Given the description of an element on the screen output the (x, y) to click on. 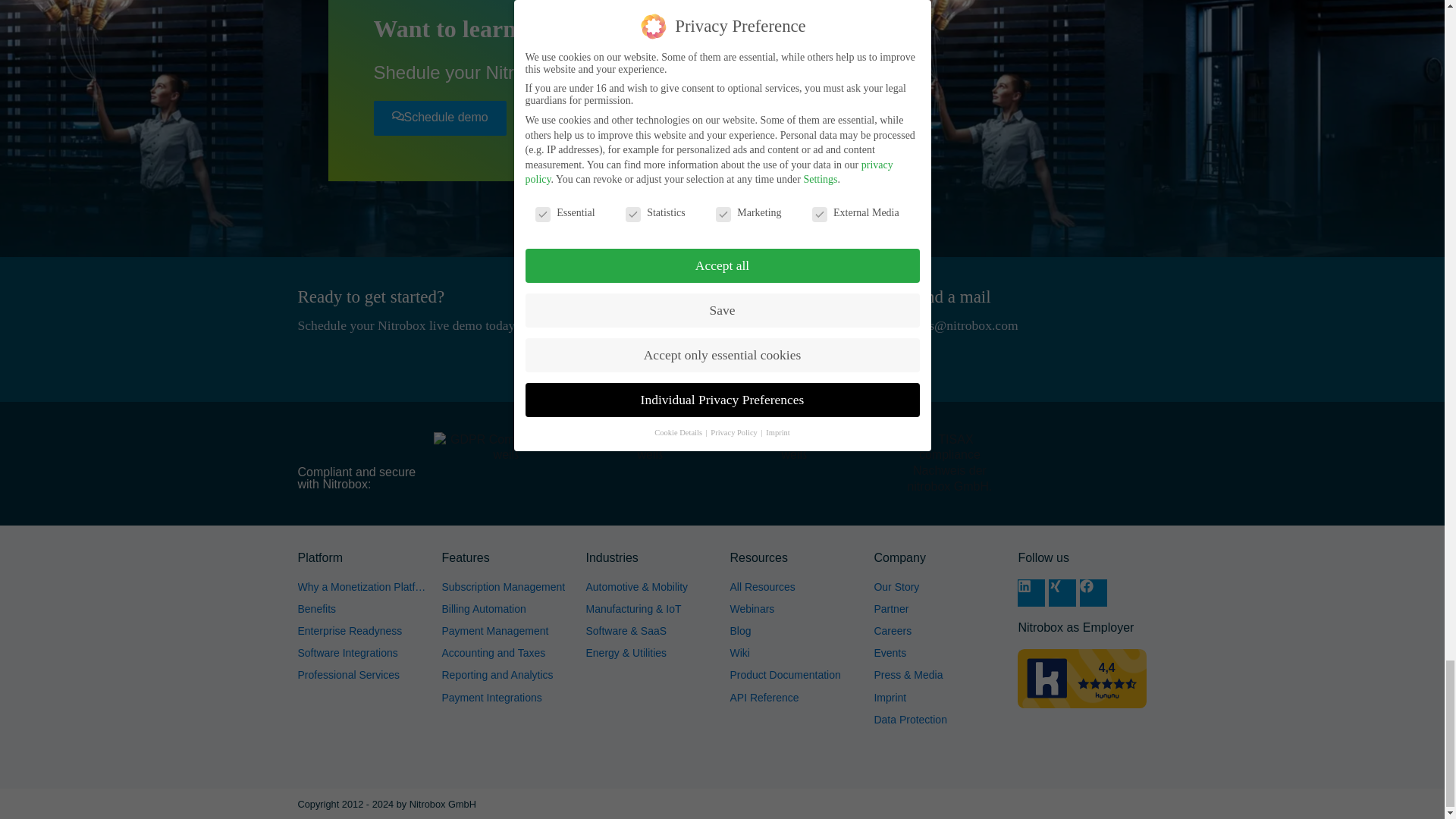
Recurring Billing and Subscription Billing (505, 609)
Financial Reporting and Subscription KPI (505, 675)
Subledger Accounting and Revenue Recognition (505, 652)
Recurring Payment Management and Payments Clearing (505, 631)
Subscription Management Solution (505, 587)
nitrobox-compliance-TISAX (949, 463)
